Given the description of an element on the screen output the (x, y) to click on. 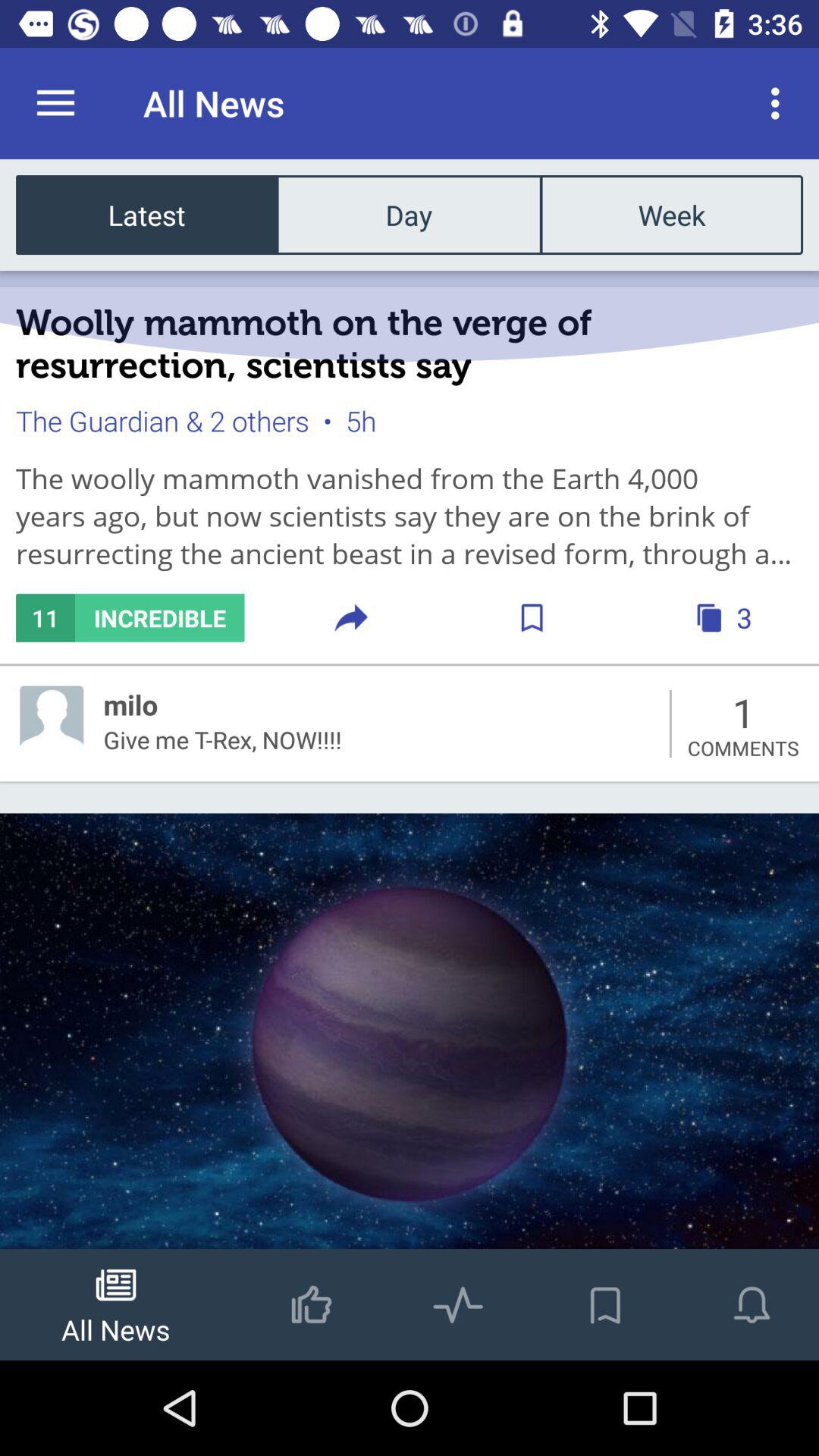
scroll until latest item (146, 214)
